Given the description of an element on the screen output the (x, y) to click on. 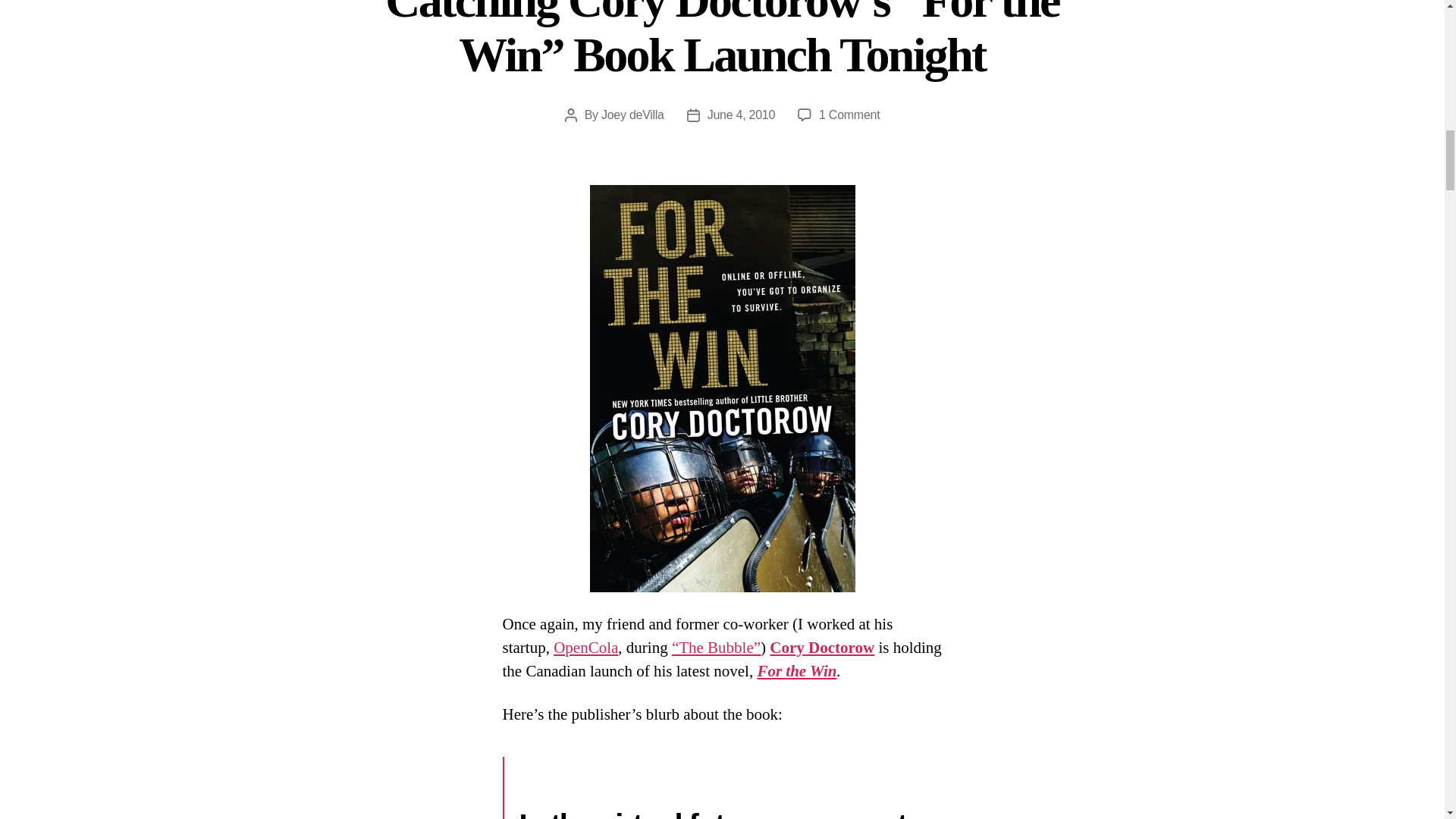
Cory Doctorow (822, 647)
For the Win (796, 670)
June 4, 2010 (740, 114)
OpenCola (585, 647)
Joey deVilla (632, 114)
